Given the description of an element on the screen output the (x, y) to click on. 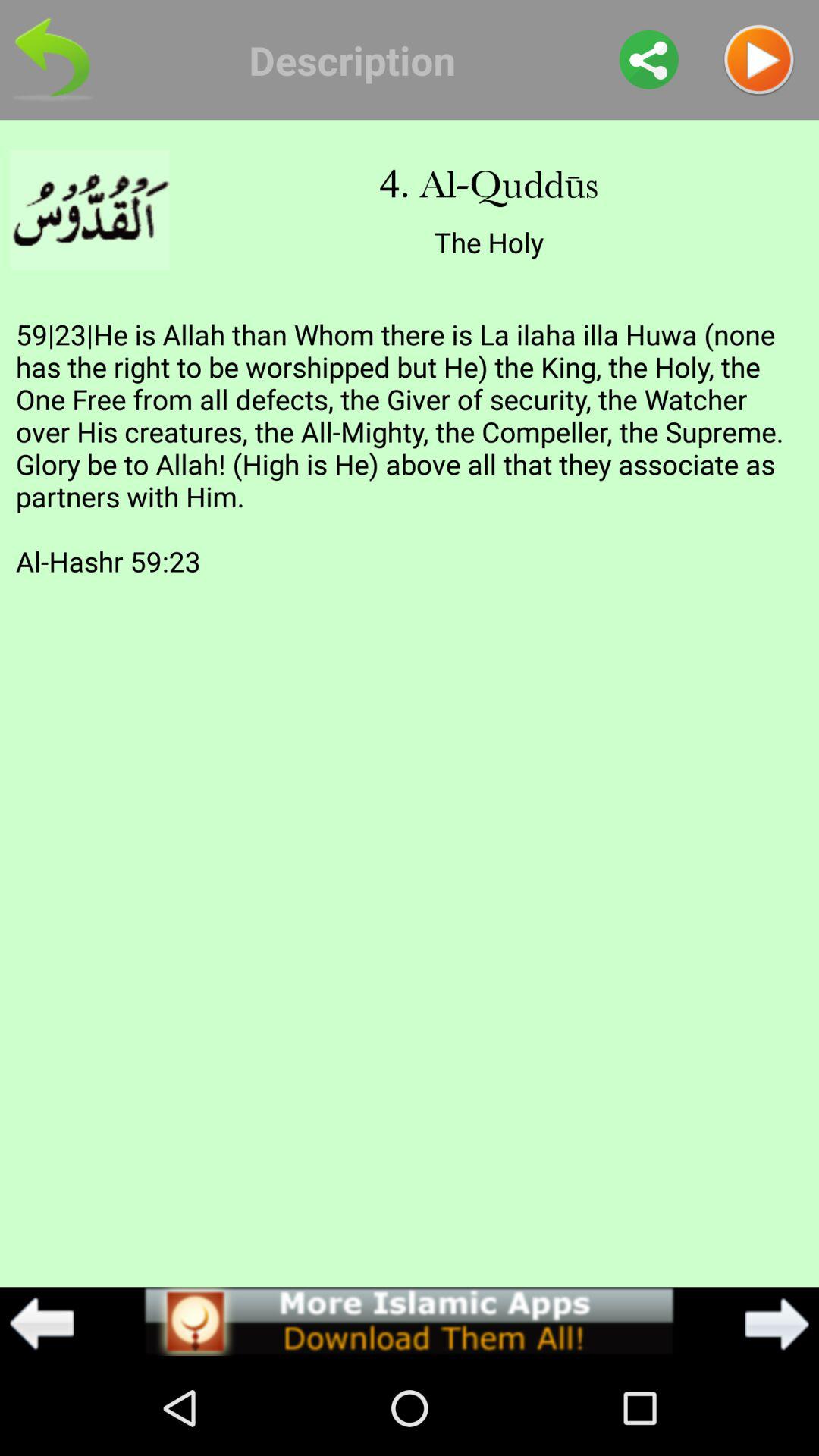
launch icon above 59 23 he icon (648, 59)
